Given the description of an element on the screen output the (x, y) to click on. 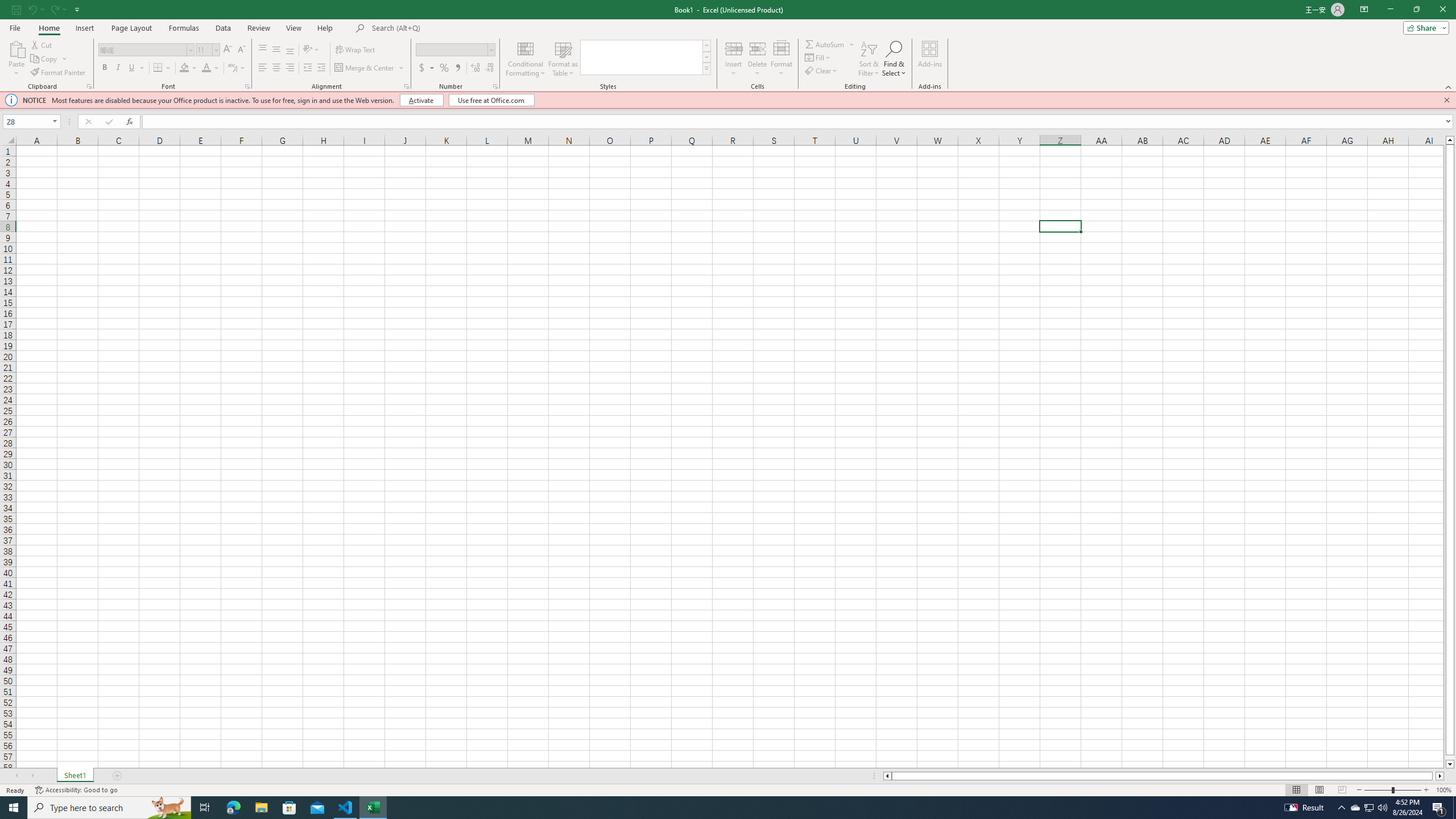
Align Right (290, 67)
Cut (42, 44)
Top Align (262, 49)
Fill (818, 56)
Bottom Border (157, 67)
Center (276, 67)
Increase Decimal (474, 67)
Increase Indent (320, 67)
